Given the description of an element on the screen output the (x, y) to click on. 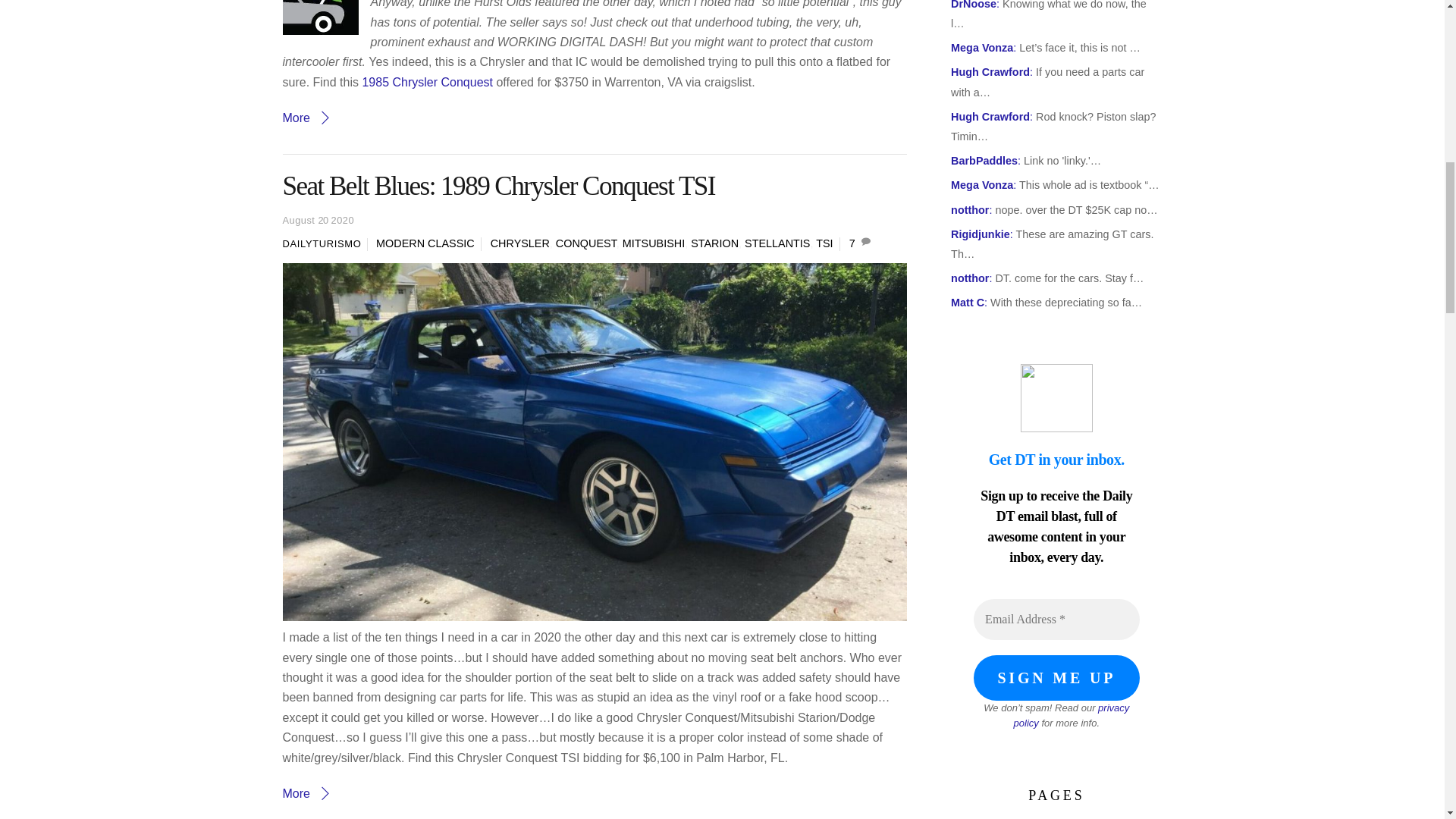
More (306, 117)
TSI (823, 243)
CHRYSLER (520, 243)
STARION (714, 243)
CONQUEST (585, 243)
Email Address (1056, 618)
MITSUBISHI (653, 243)
MODERN CLASSIC (424, 243)
Sign me up (1056, 678)
1985 Chrysler Conquest (427, 82)
Seat Belt Blues: 1989 Chrysler Conquest TSI (498, 185)
DAILYTURISMO (321, 243)
STELLANTIS (776, 243)
More (306, 793)
